Given the description of an element on the screen output the (x, y) to click on. 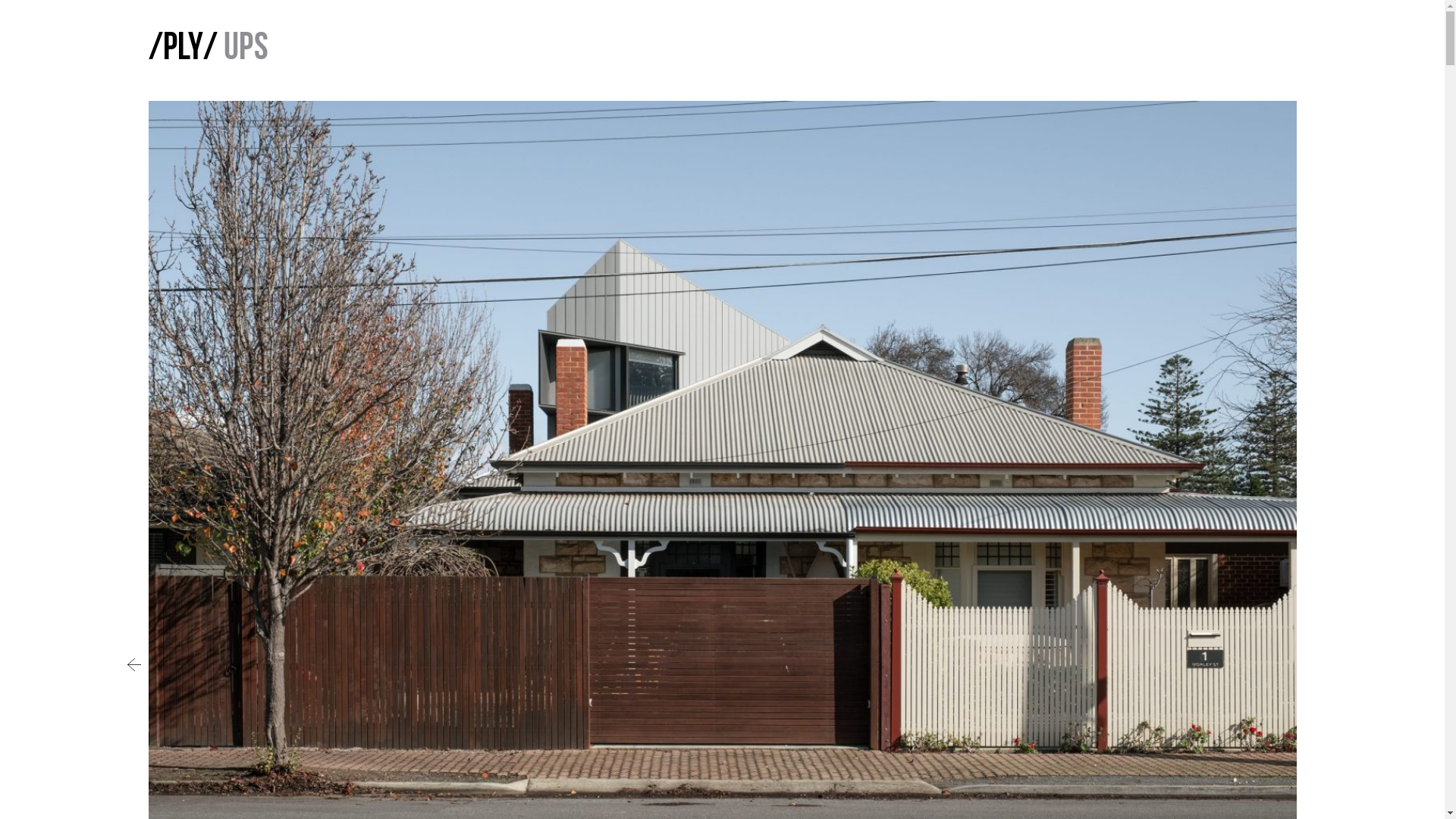
/PLY/ Element type: text (182, 49)
